Given the description of an element on the screen output the (x, y) to click on. 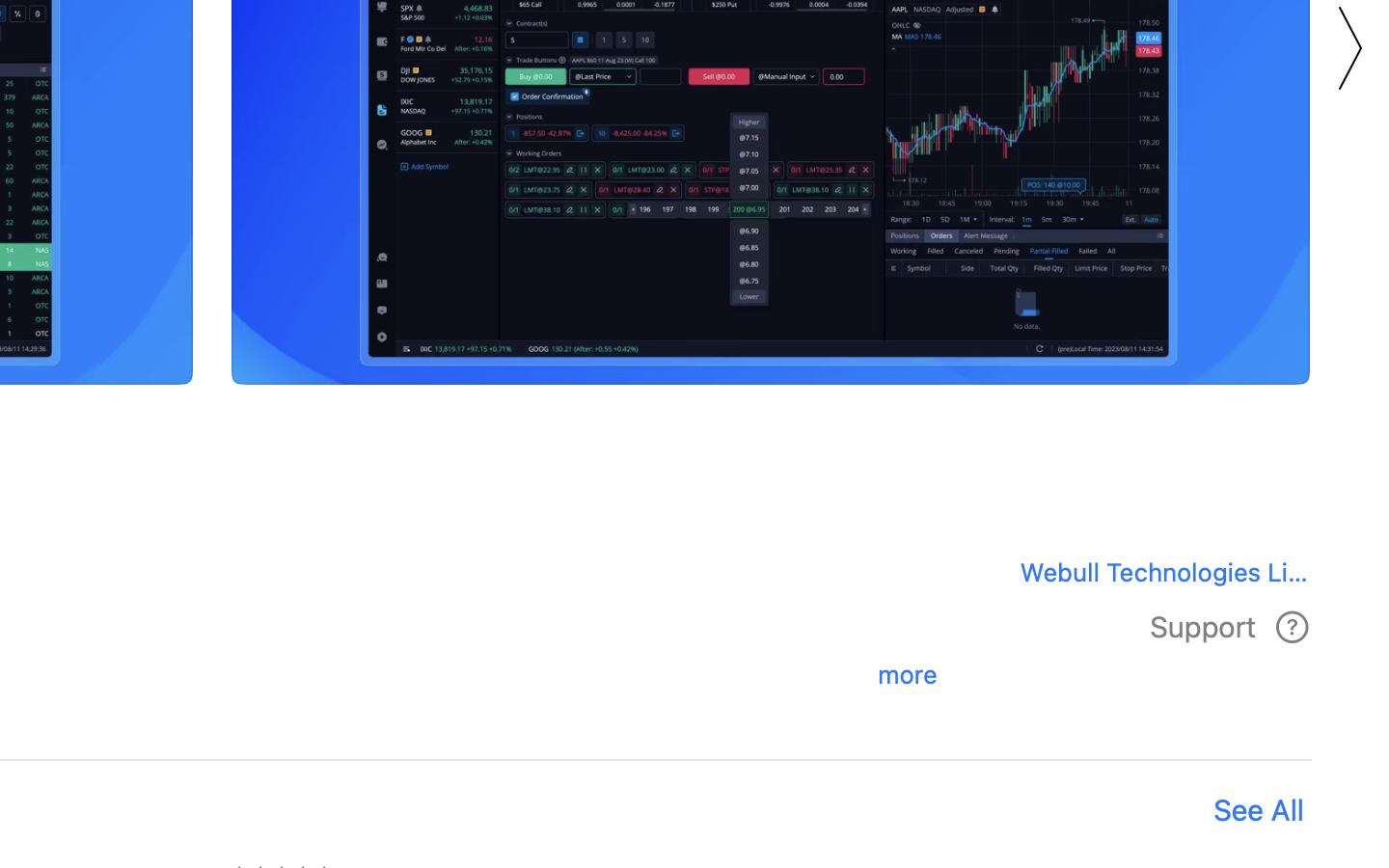
Webull Technologies Limited Element type: AXStaticText (1157, 570)
